Given the description of an element on the screen output the (x, y) to click on. 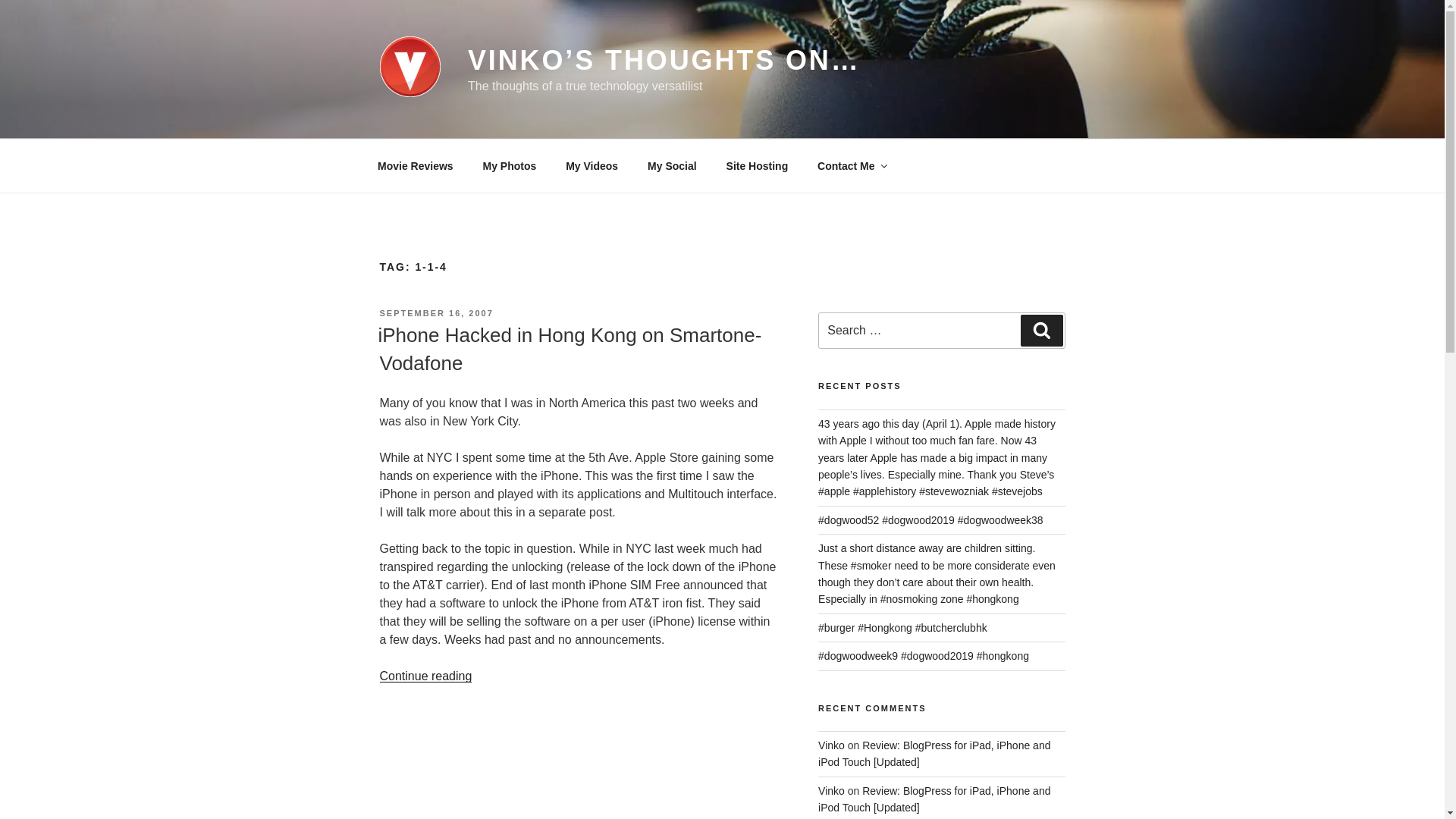
Search (1041, 330)
Vinko (831, 790)
Contact Me (851, 165)
My Videos (592, 165)
My Social (672, 165)
My Photos (509, 165)
iPhone Hacked in Hong Kong on Smartone-Vodafone (569, 348)
SEPTEMBER 16, 2007 (435, 312)
Vinko (831, 745)
Movie Reviews (414, 165)
Site Hosting (757, 165)
